Given the description of an element on the screen output the (x, y) to click on. 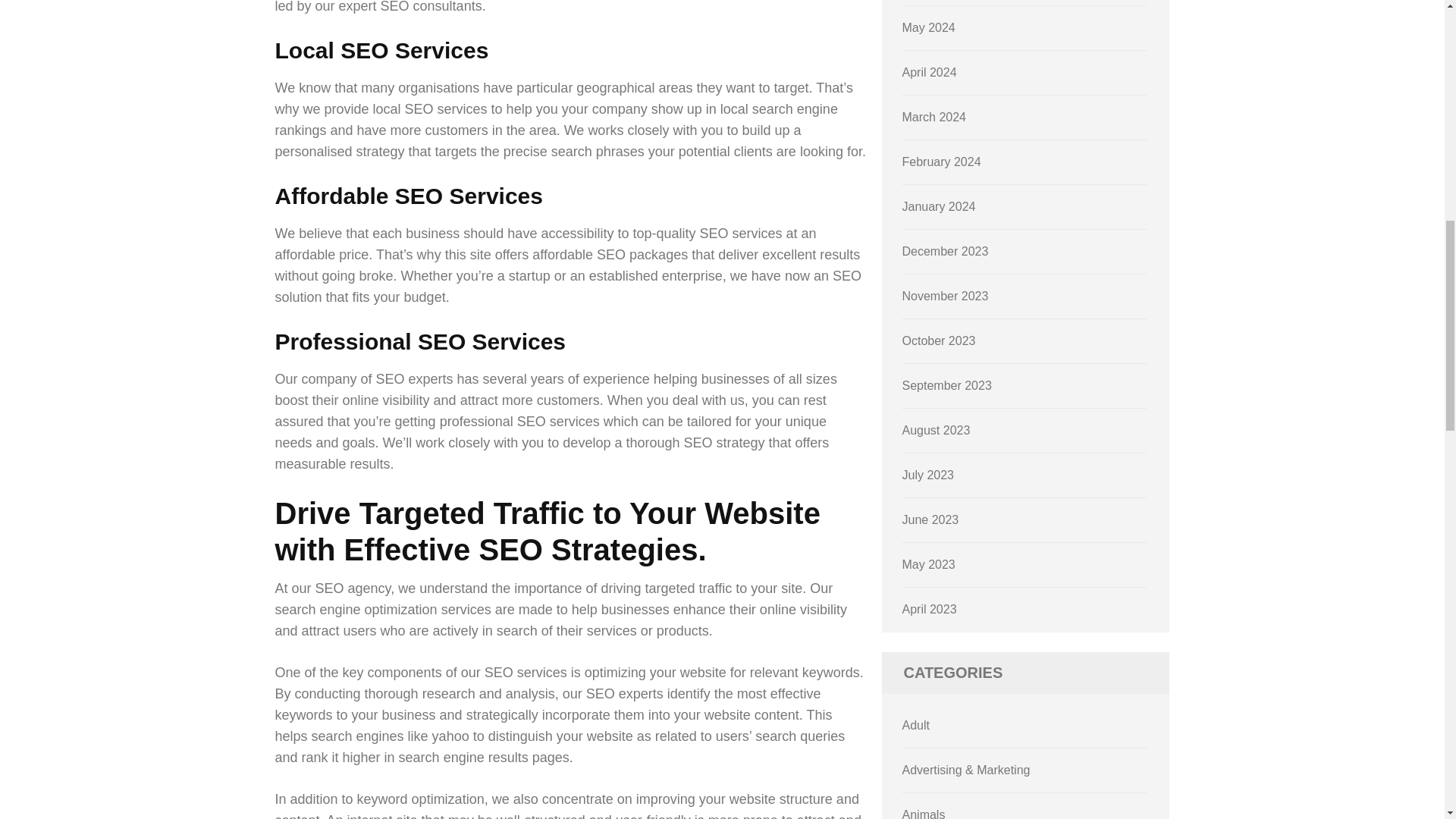
Adult (916, 725)
March 2024 (934, 116)
October 2023 (938, 340)
February 2024 (941, 161)
July 2023 (928, 474)
April 2023 (929, 608)
December 2023 (945, 250)
September 2023 (946, 385)
May 2024 (928, 27)
May 2023 (928, 563)
